Given the description of an element on the screen output the (x, y) to click on. 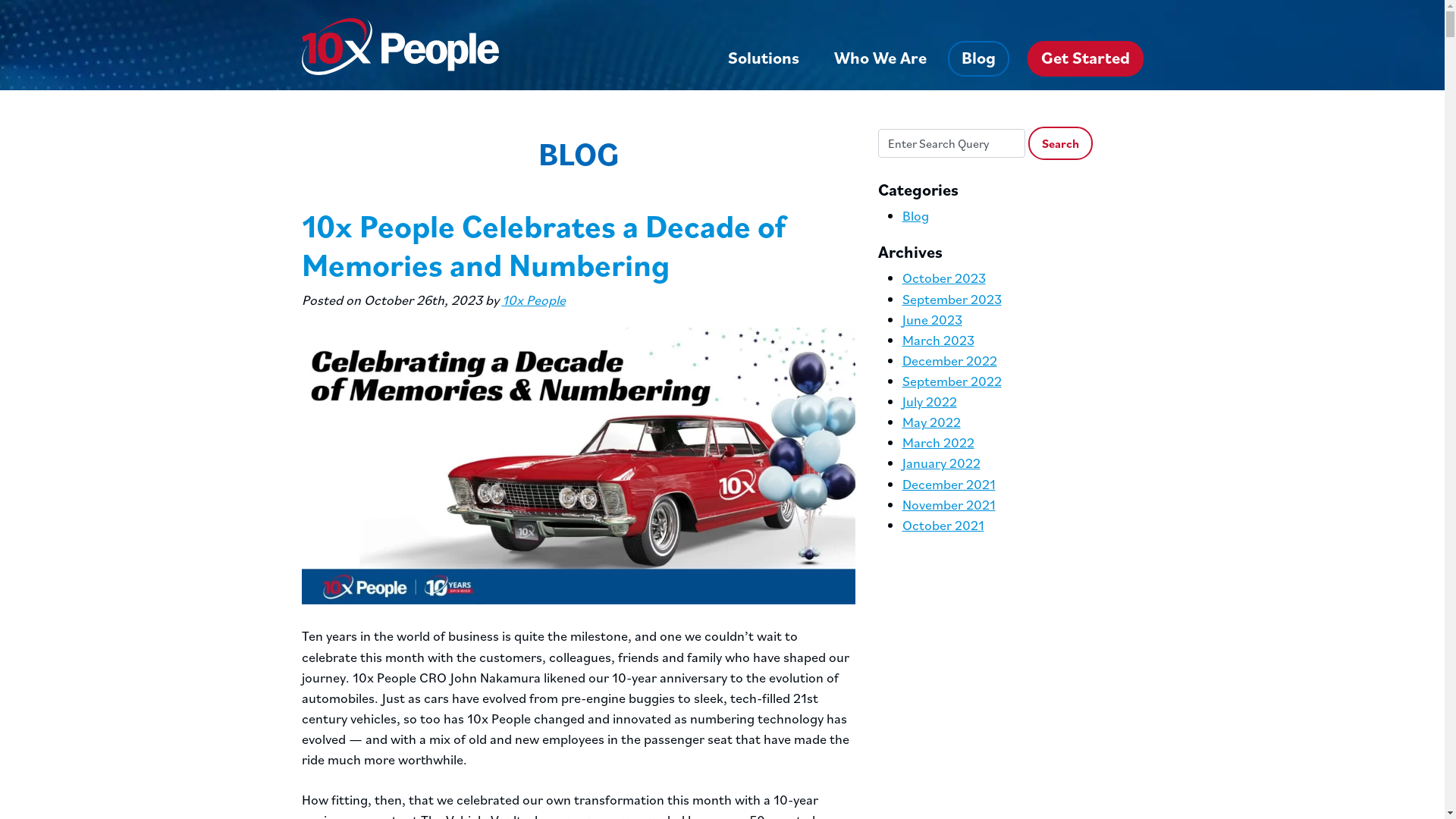
December 2021 Element type: text (948, 483)
September 2022 Element type: text (951, 380)
March 2023 Element type: text (938, 339)
March 2022 Element type: text (938, 442)
October 2023 Element type: text (943, 277)
Who We Are Element type: text (880, 58)
10x People Element type: text (533, 299)
September 2023 Element type: text (951, 298)
Search Element type: text (1060, 143)
Solutions Element type: text (763, 58)
Blog Element type: text (915, 215)
Blog Element type: text (978, 58)
October 2021 Element type: text (943, 524)
May 2022 Element type: text (931, 421)
June 2023 Element type: text (932, 319)
July 2022 Element type: text (929, 401)
10x People Celebrates a Decade of Memories and Numbering Element type: text (543, 244)
January 2022 Element type: text (941, 462)
November 2021 Element type: text (948, 504)
Get Started Element type: text (1084, 58)
December 2022 Element type: text (949, 360)
